Given the description of an element on the screen output the (x, y) to click on. 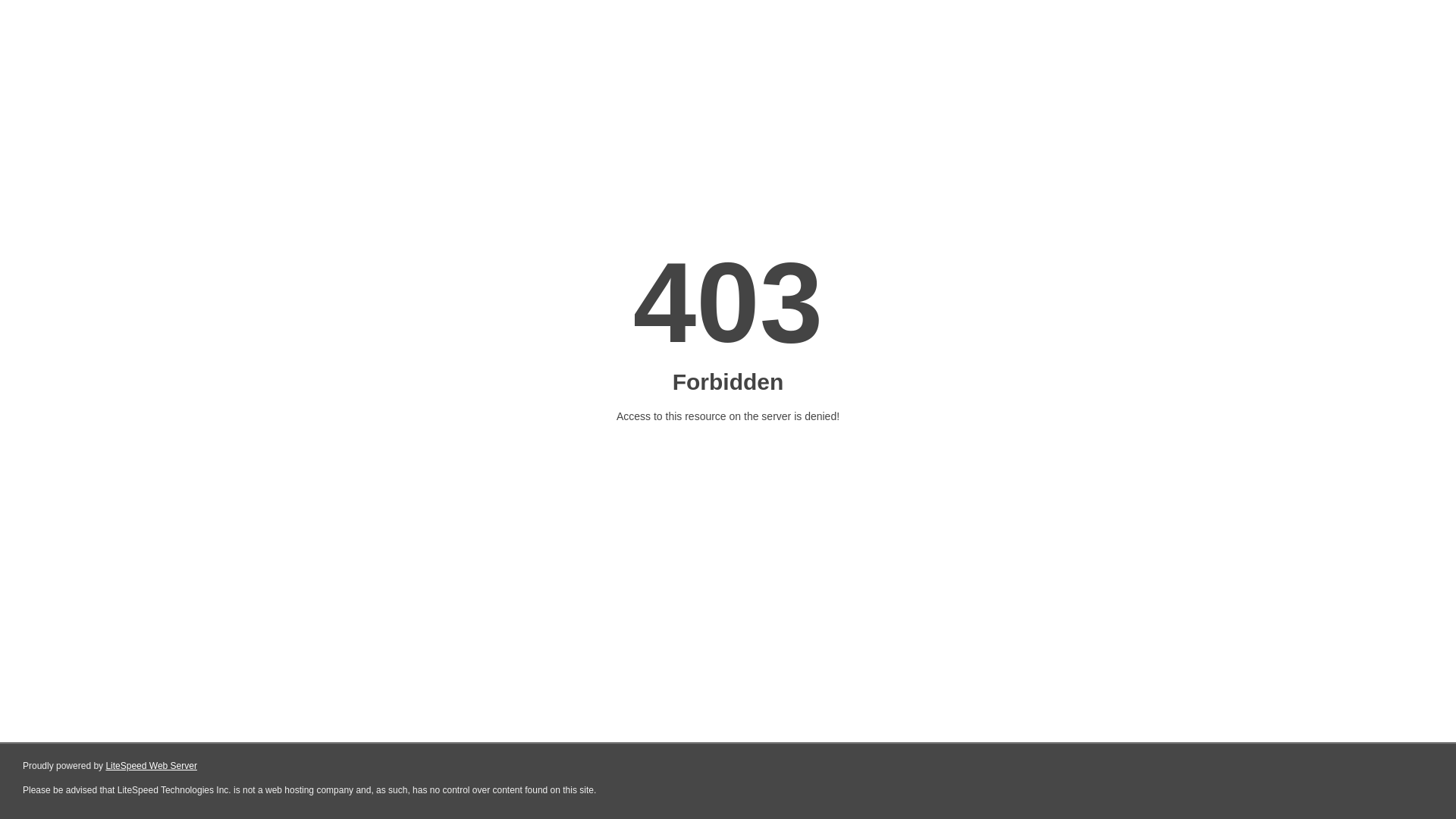
LiteSpeed Web Server Element type: text (151, 765)
